Given the description of an element on the screen output the (x, y) to click on. 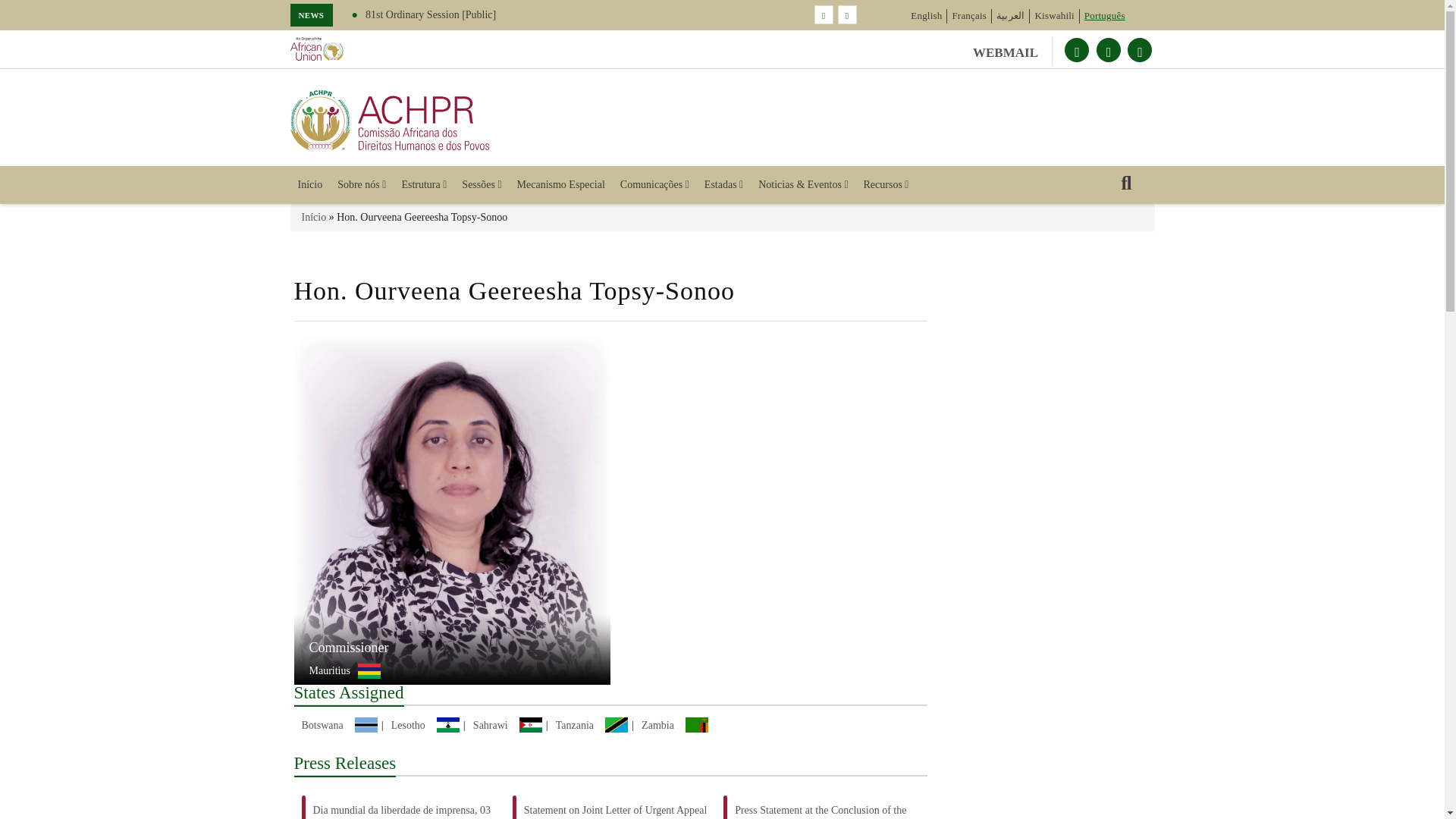
Youtube (1108, 49)
Twitter (1076, 49)
flickr (1138, 49)
WEBMAIL (1012, 50)
English (926, 15)
Kiswahili (1053, 15)
